Given the description of an element on the screen output the (x, y) to click on. 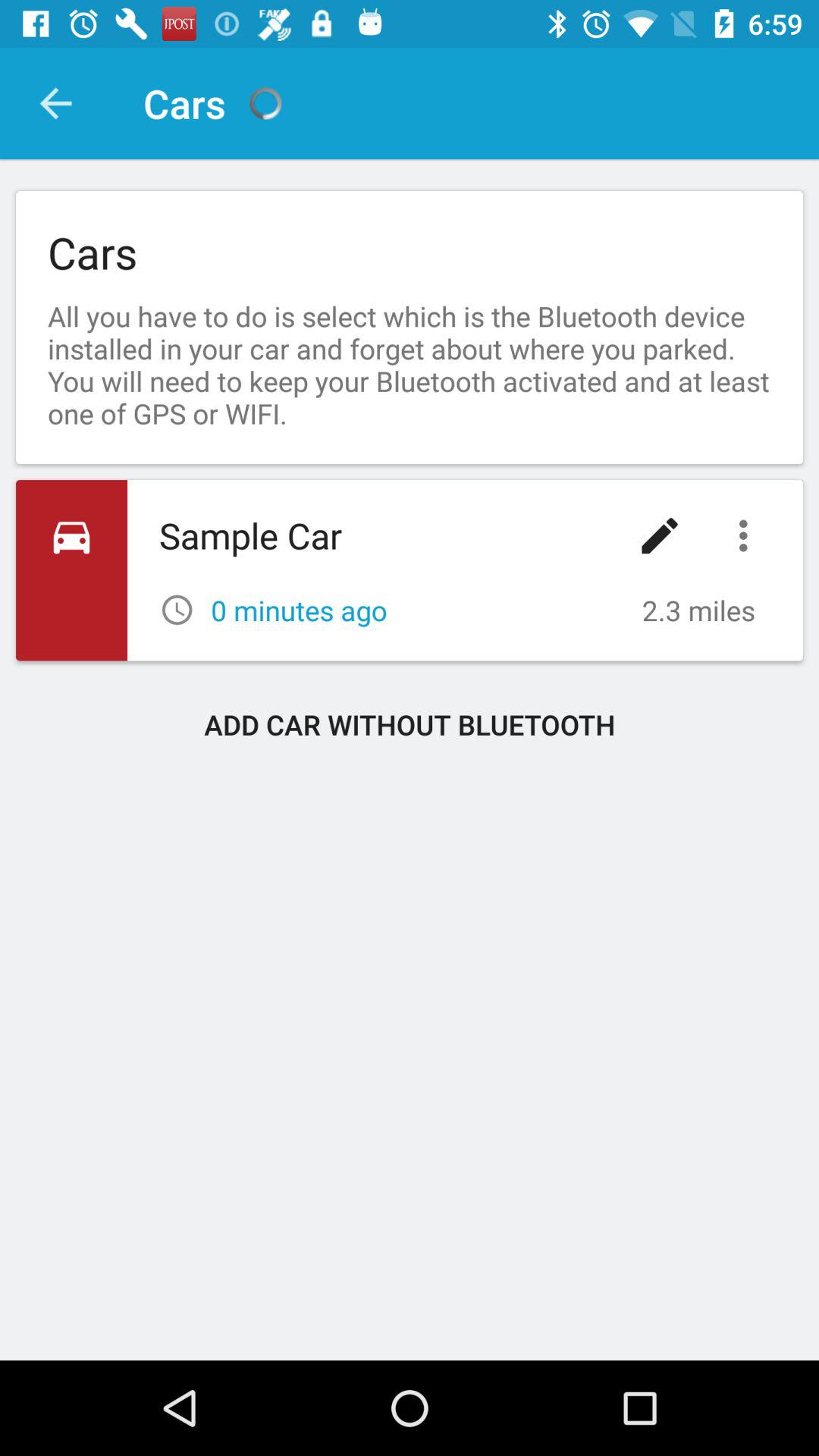
tap icon below the all you have (747, 535)
